Given the description of an element on the screen output the (x, y) to click on. 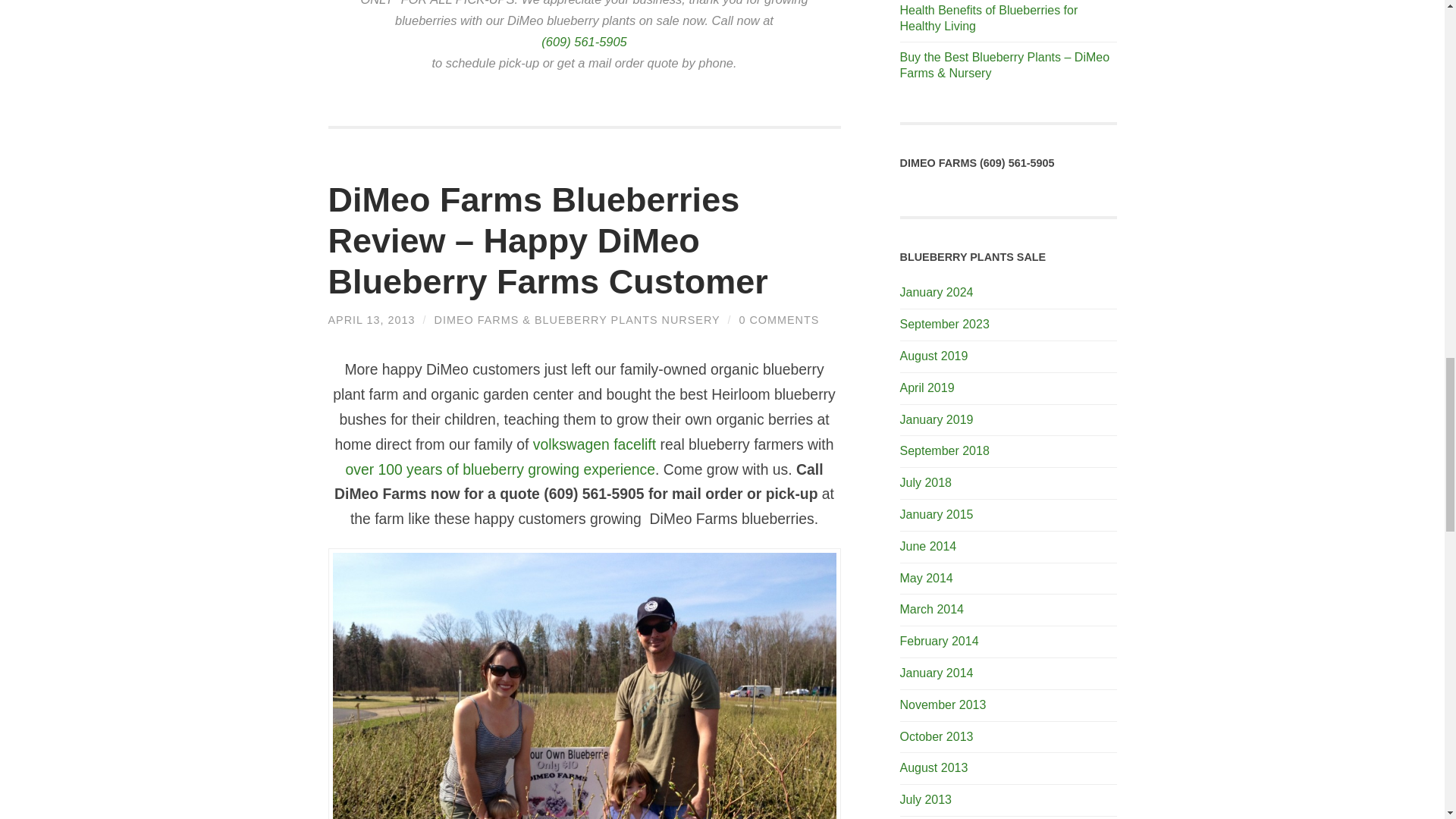
APRIL 13, 2013 (370, 319)
0 COMMENTS (778, 319)
volkswagen facelift (594, 443)
over 100 years of blueberry growing experience (500, 469)
